Given the description of an element on the screen output the (x, y) to click on. 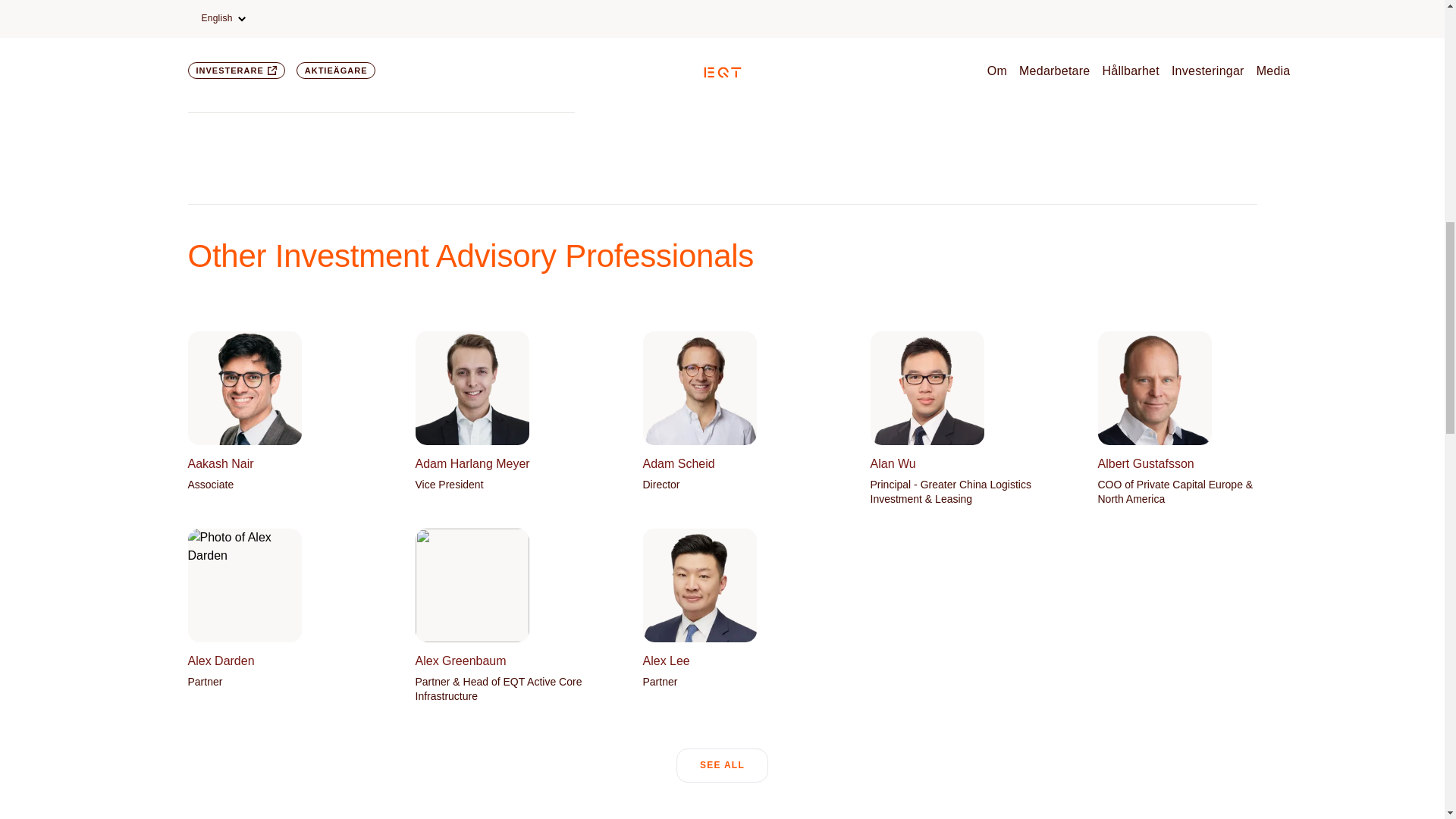
SEE ALL (278, 418)
